Given the description of an element on the screen output the (x, y) to click on. 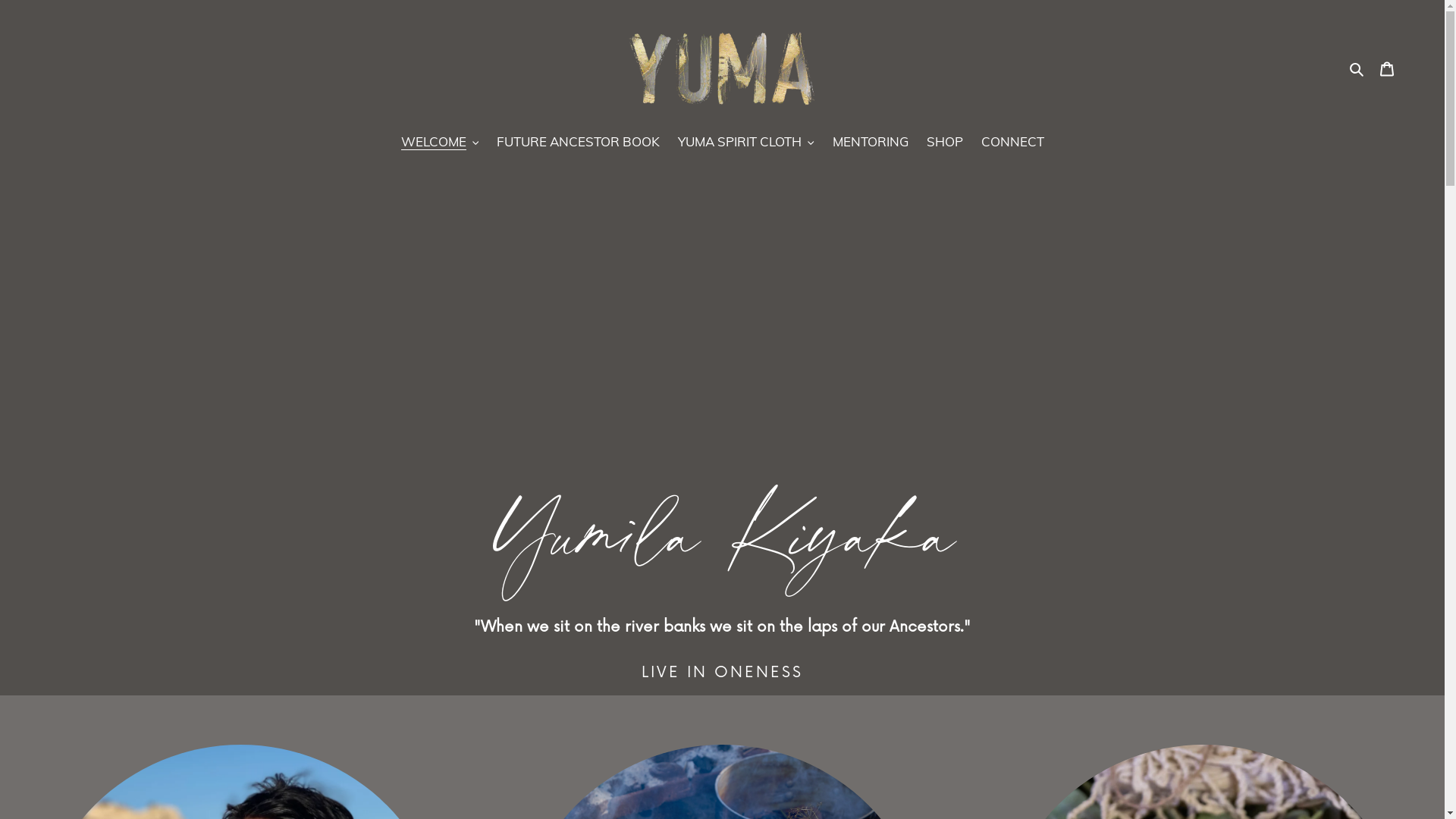
FUTURE ANCESTOR BOOK Element type: text (578, 142)
CONNECT Element type: text (1012, 142)
Search Element type: text (1357, 67)
YUMA SPIRIT CLOTH Element type: text (746, 142)
SHOP Element type: text (944, 142)
MENTORING Element type: text (870, 142)
Cart Element type: text (1386, 67)
WELCOME Element type: text (439, 142)
